Given the description of an element on the screen output the (x, y) to click on. 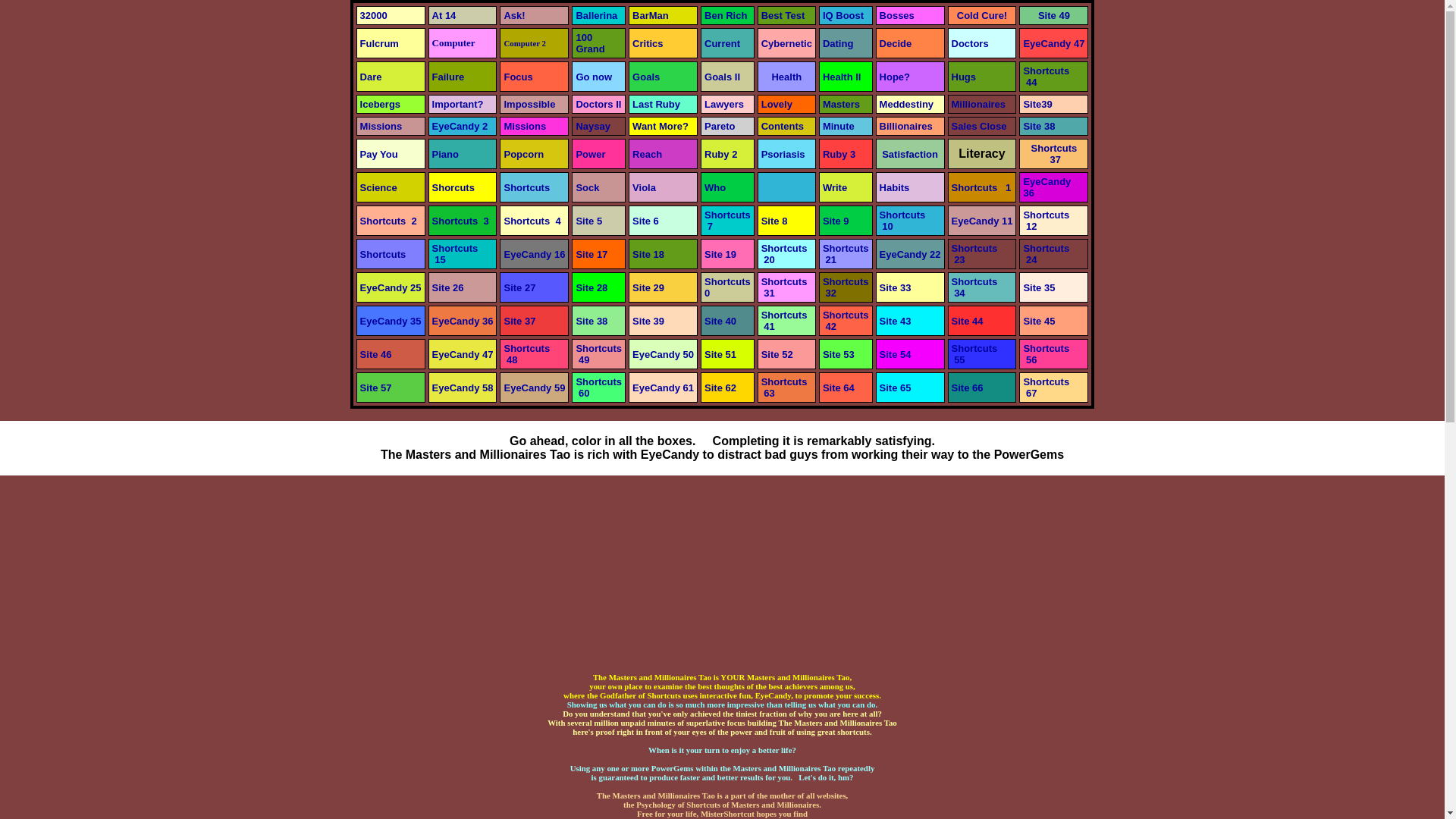
Bosses (896, 15)
Health II (841, 76)
100 Grand (589, 42)
Top Boss Thanks To The Masters and Millionaires Tao  (896, 15)
Ben Rich (725, 15)
The Masters and Millionaires Tao Ala Ben Rich (725, 15)
Hope? (894, 76)
